Given the description of an element on the screen output the (x, y) to click on. 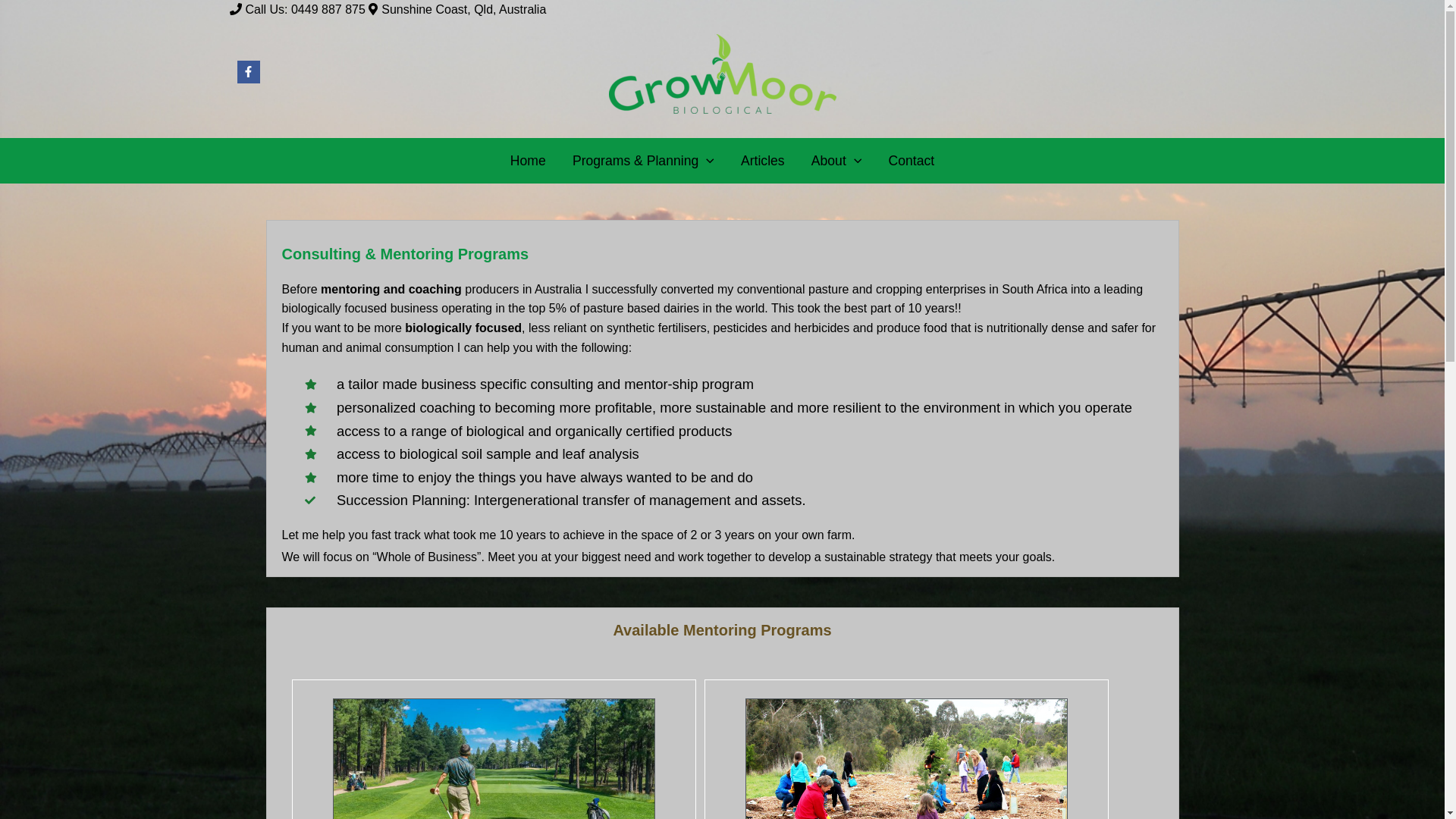
Programs & Planning Element type: text (642, 160)
Home Element type: text (527, 160)
Contact Element type: text (911, 160)
Articles Element type: text (762, 160)
About Element type: text (836, 160)
